Given the description of an element on the screen output the (x, y) to click on. 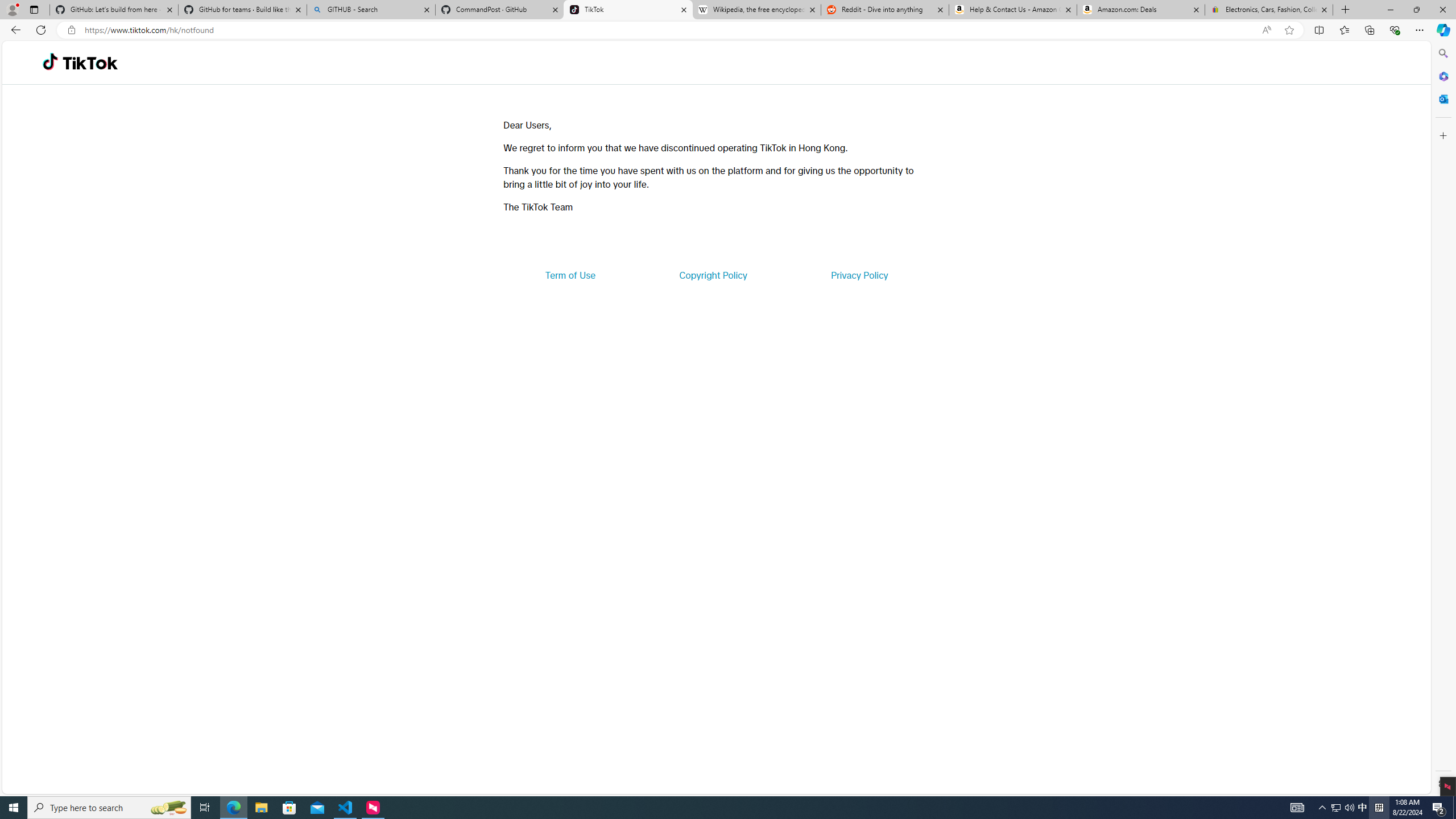
Amazon.com: Deals (1140, 9)
